Given the description of an element on the screen output the (x, y) to click on. 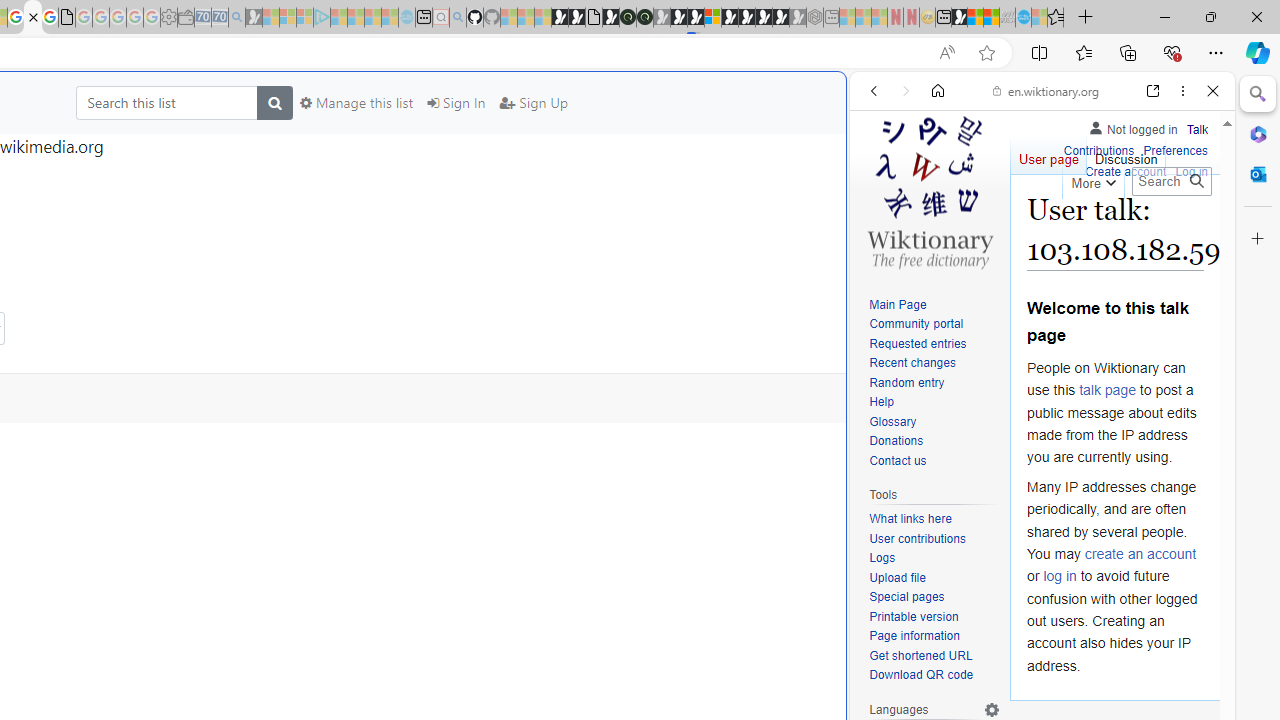
User page (1048, 154)
github - Search - Sleeping (457, 17)
Download QR code (921, 675)
Upload file (897, 577)
Talk (1197, 126)
Recent changes (934, 363)
